Given the description of an element on the screen output the (x, y) to click on. 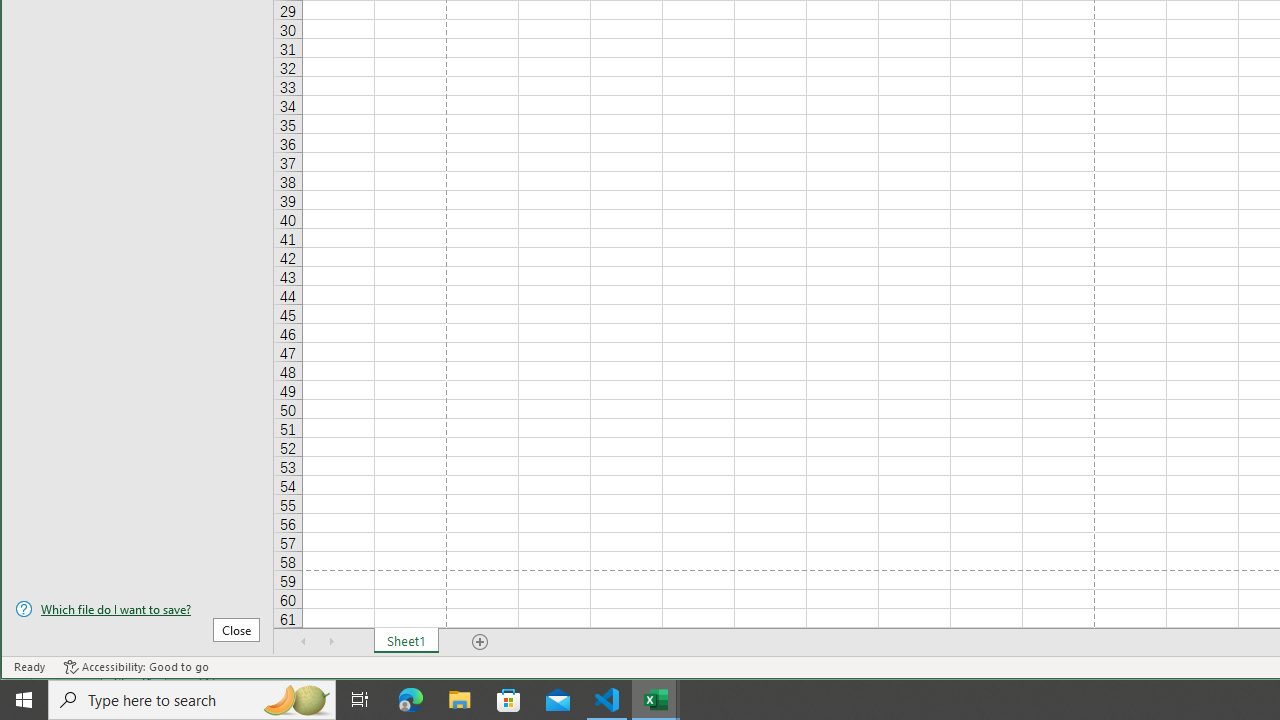
Microsoft Store (509, 699)
